Given the description of an element on the screen output the (x, y) to click on. 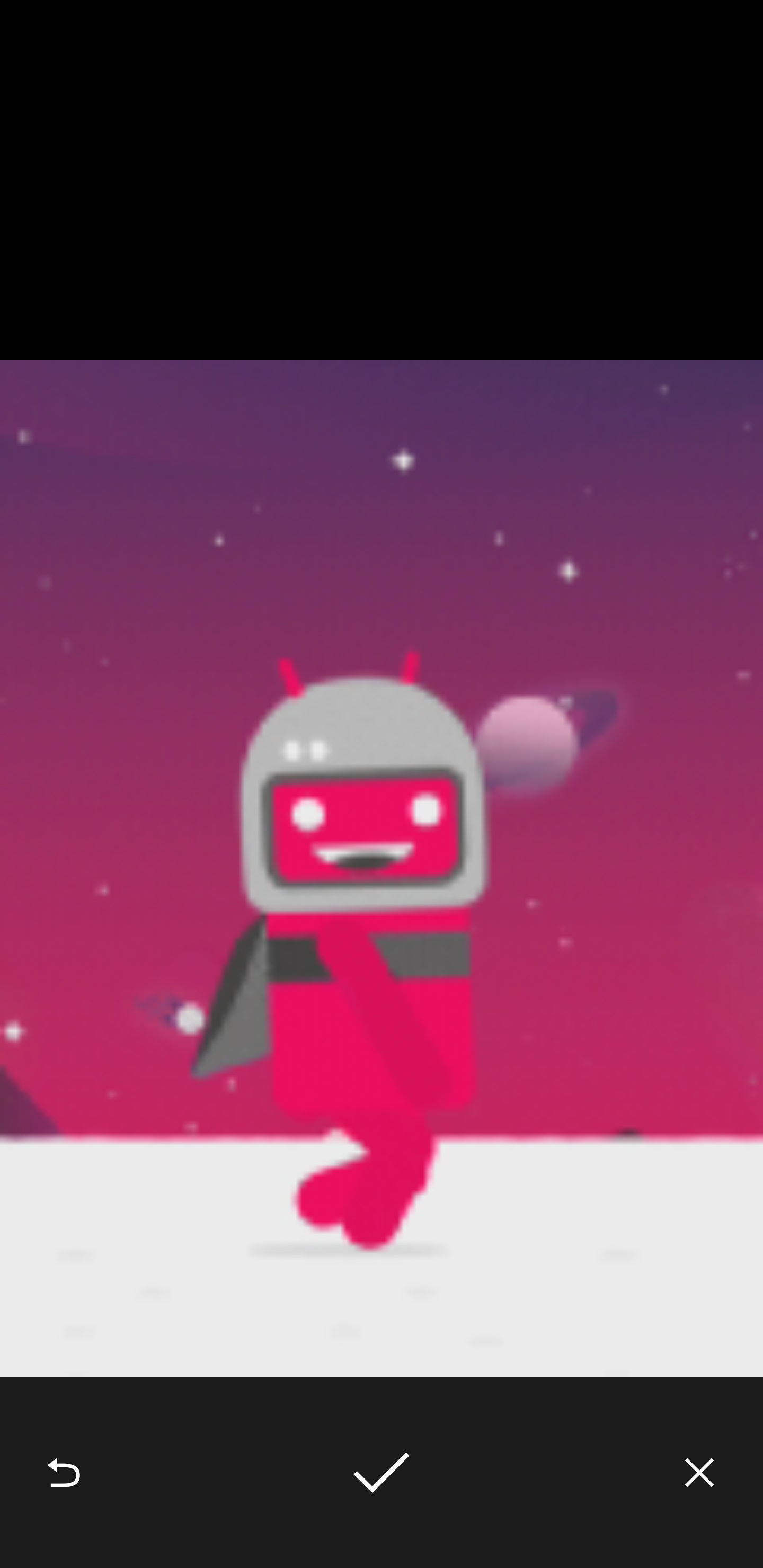
Done (381, 1472)
Retake (63, 1472)
Cancel (699, 1472)
